Given the description of an element on the screen output the (x, y) to click on. 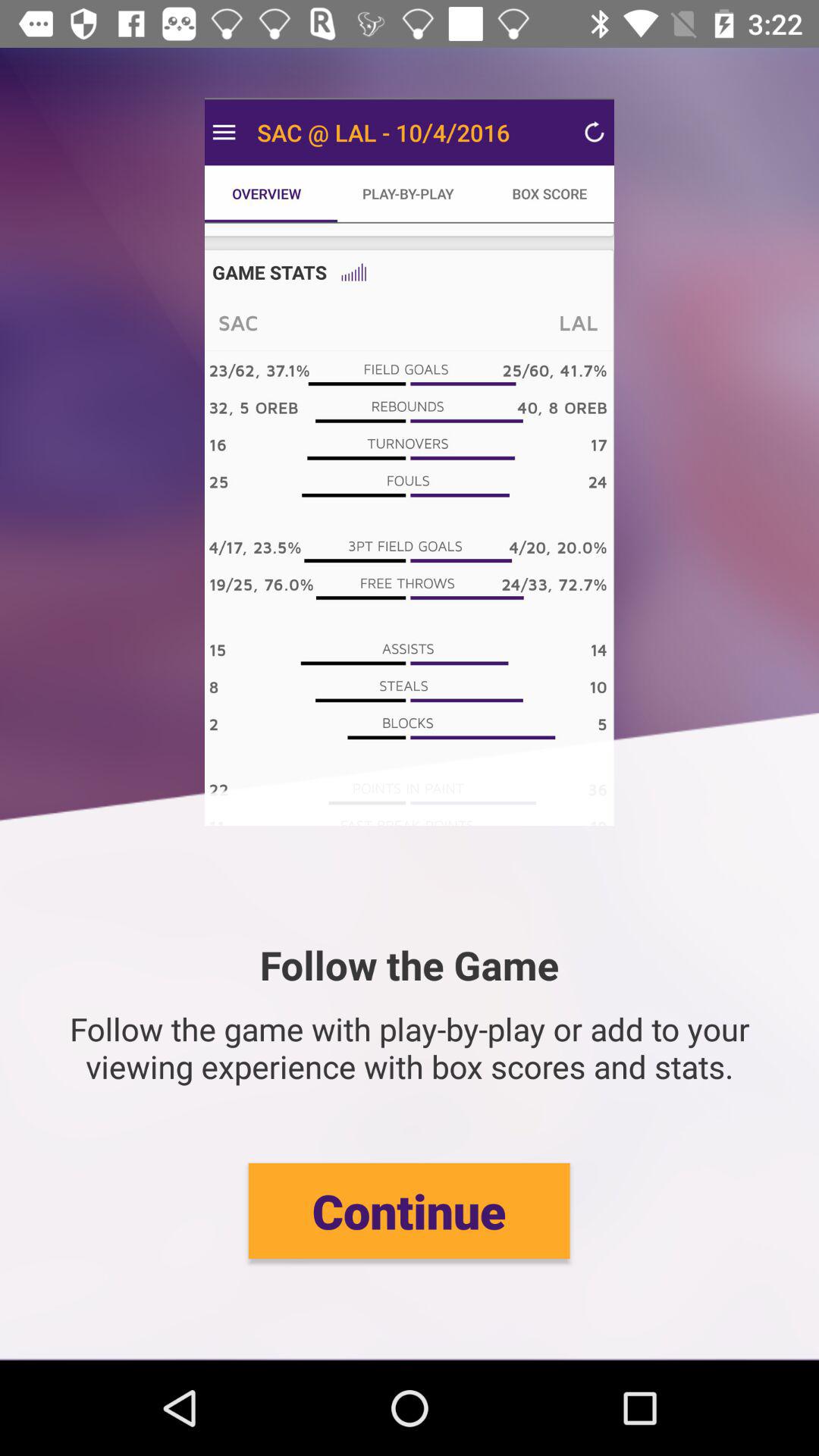
click the icon below the follow the game item (408, 1210)
